Given the description of an element on the screen output the (x, y) to click on. 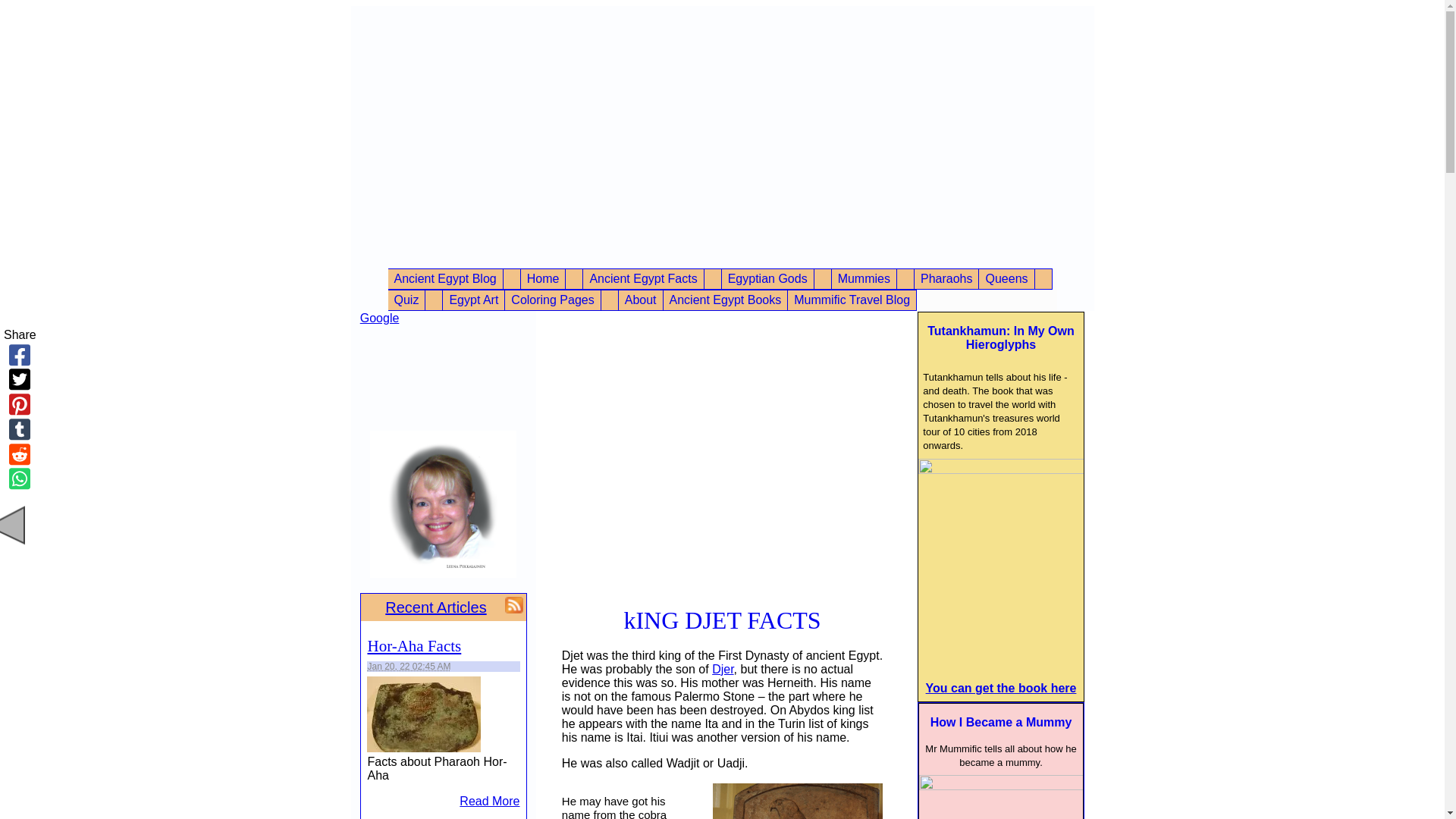
Quiz (406, 300)
Pharaohs (946, 279)
Queens (1005, 279)
Ancient Egypt Blog (445, 279)
Ancient Egypt Books (725, 300)
Ancient Egypt Facts (643, 279)
Egyptian Gods (767, 279)
Mummific Travel Blog (851, 300)
About (640, 300)
Home (543, 279)
